Given the description of an element on the screen output the (x, y) to click on. 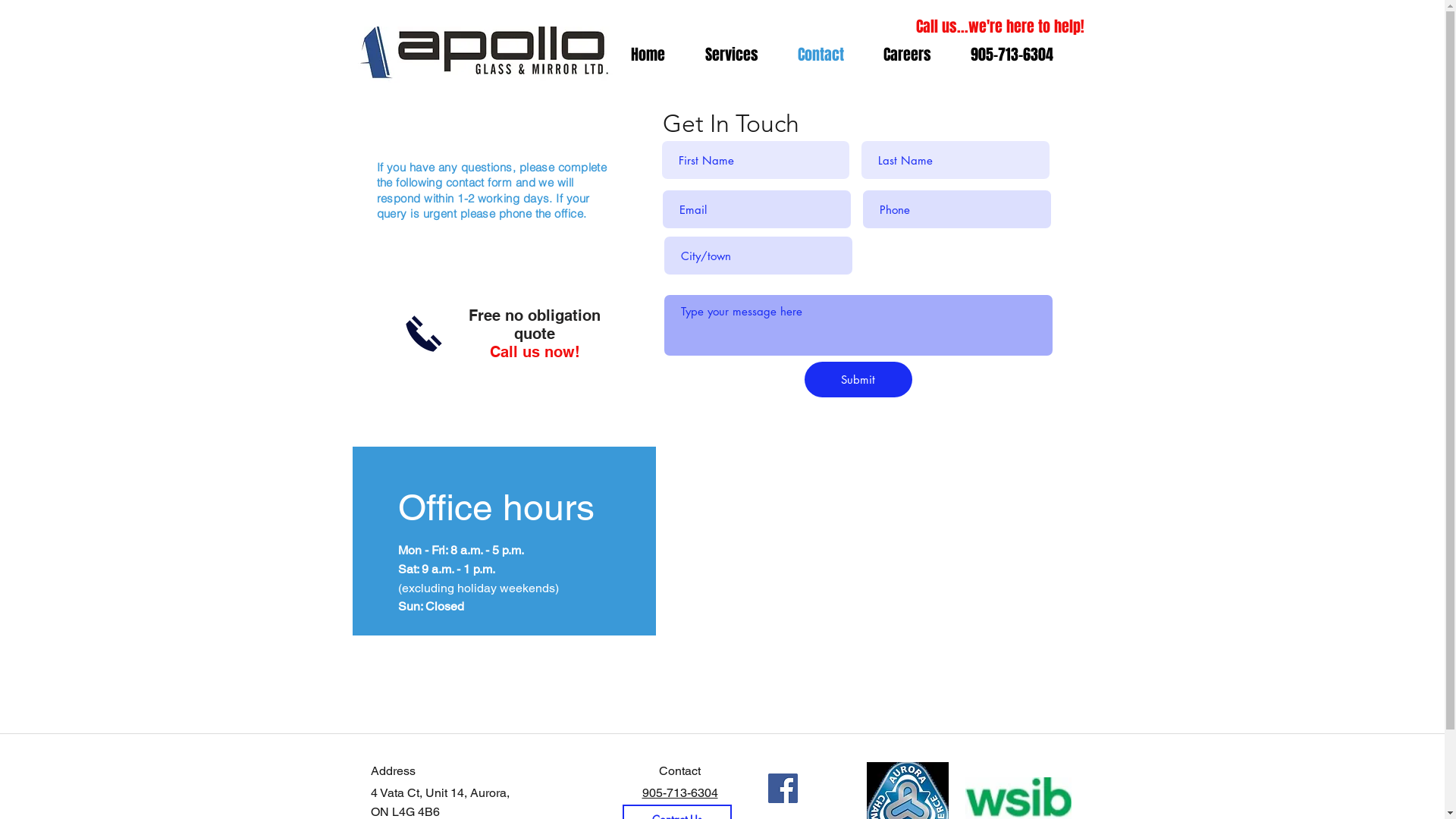
905-713-6304 Element type: text (1011, 54)
Careers Element type: text (906, 54)
905-713-6304 Element type: text (679, 792)
Submit Element type: text (857, 379)
Contact Element type: text (820, 54)
Google Maps Element type: hover (879, 561)
Home Element type: text (648, 54)
Call us now Element type: hover (422, 333)
